Given the description of an element on the screen output the (x, y) to click on. 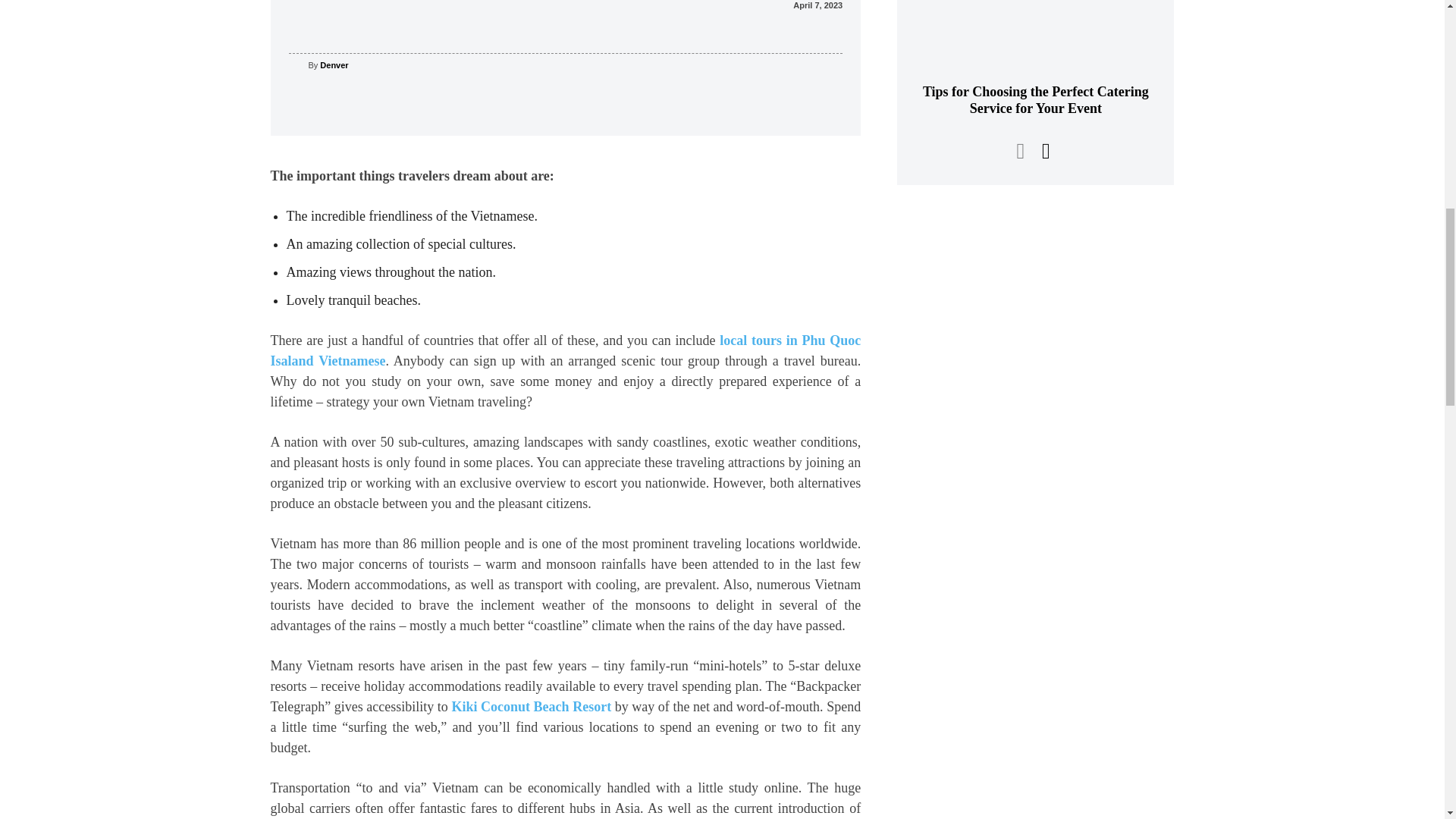
Denver (297, 64)
